Given the description of an element on the screen output the (x, y) to click on. 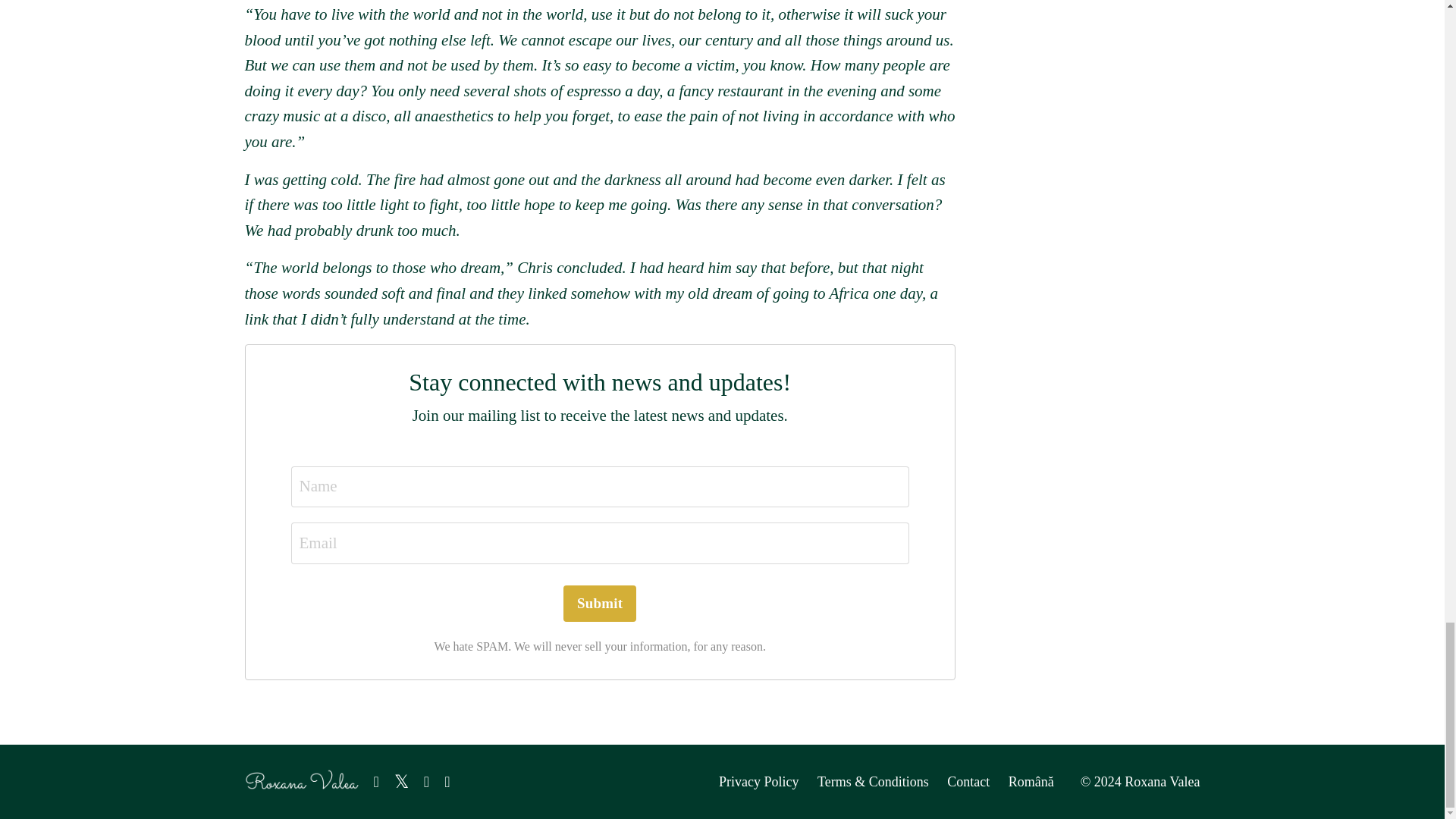
Privacy Policy (759, 781)
Submit (599, 603)
Contact (968, 781)
Submit (599, 603)
